Given the description of an element on the screen output the (x, y) to click on. 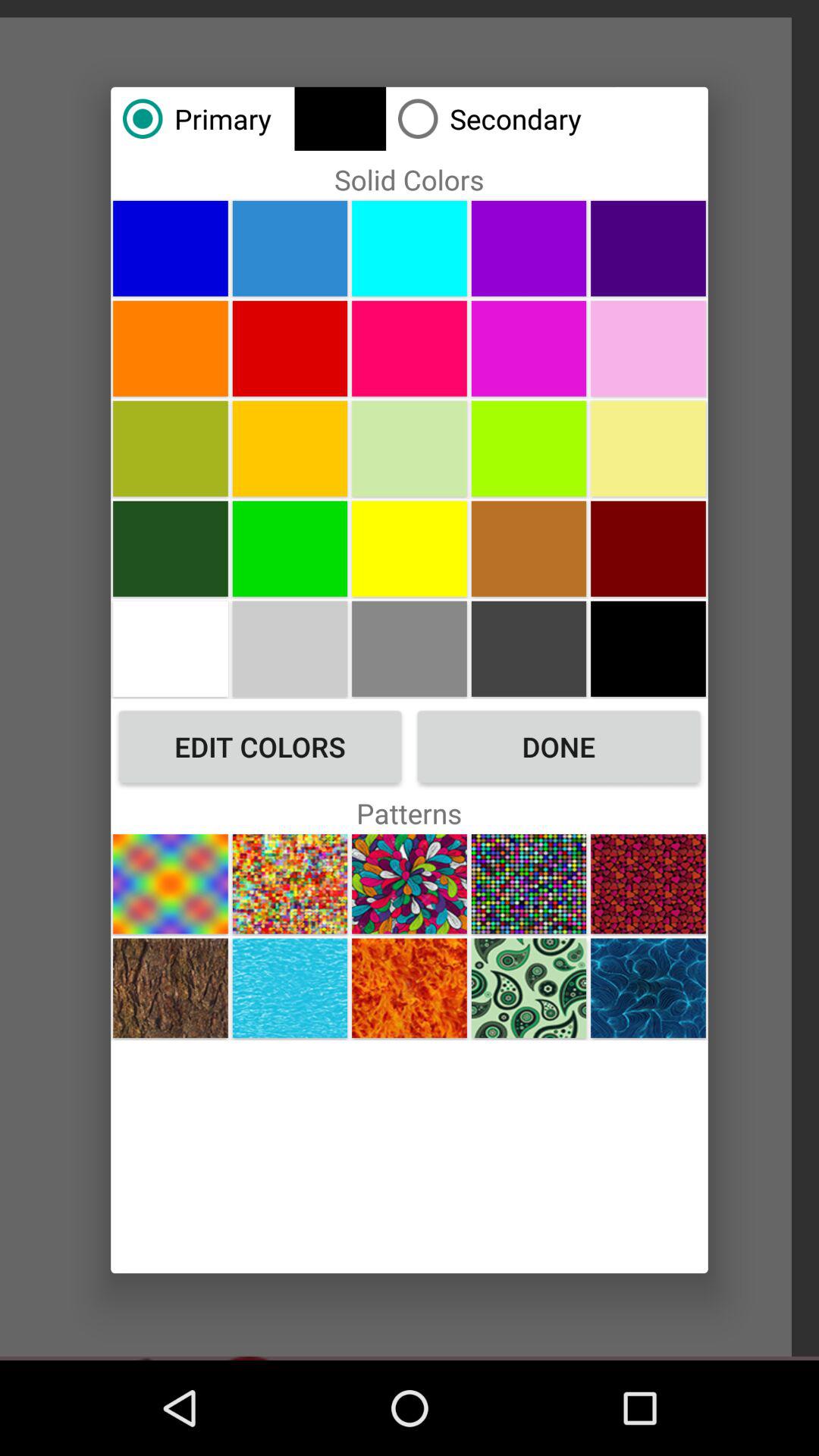
select red (289, 348)
